Given the description of an element on the screen output the (x, y) to click on. 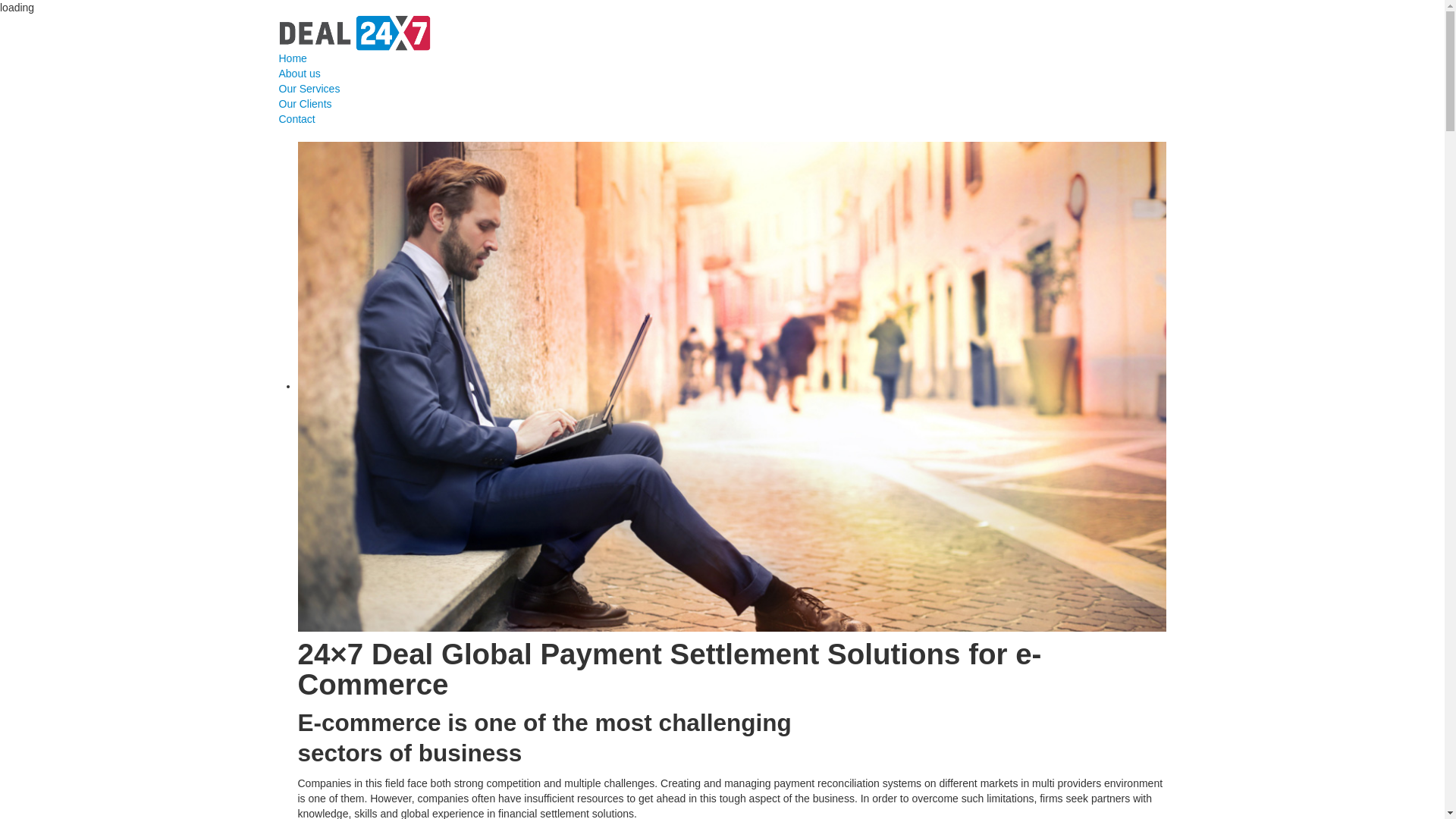
Our Services Element type: text (722, 88)
Contact Element type: text (722, 118)
Home Element type: text (722, 57)
About us Element type: text (722, 73)
Our Clients Element type: text (722, 103)
